Given the description of an element on the screen output the (x, y) to click on. 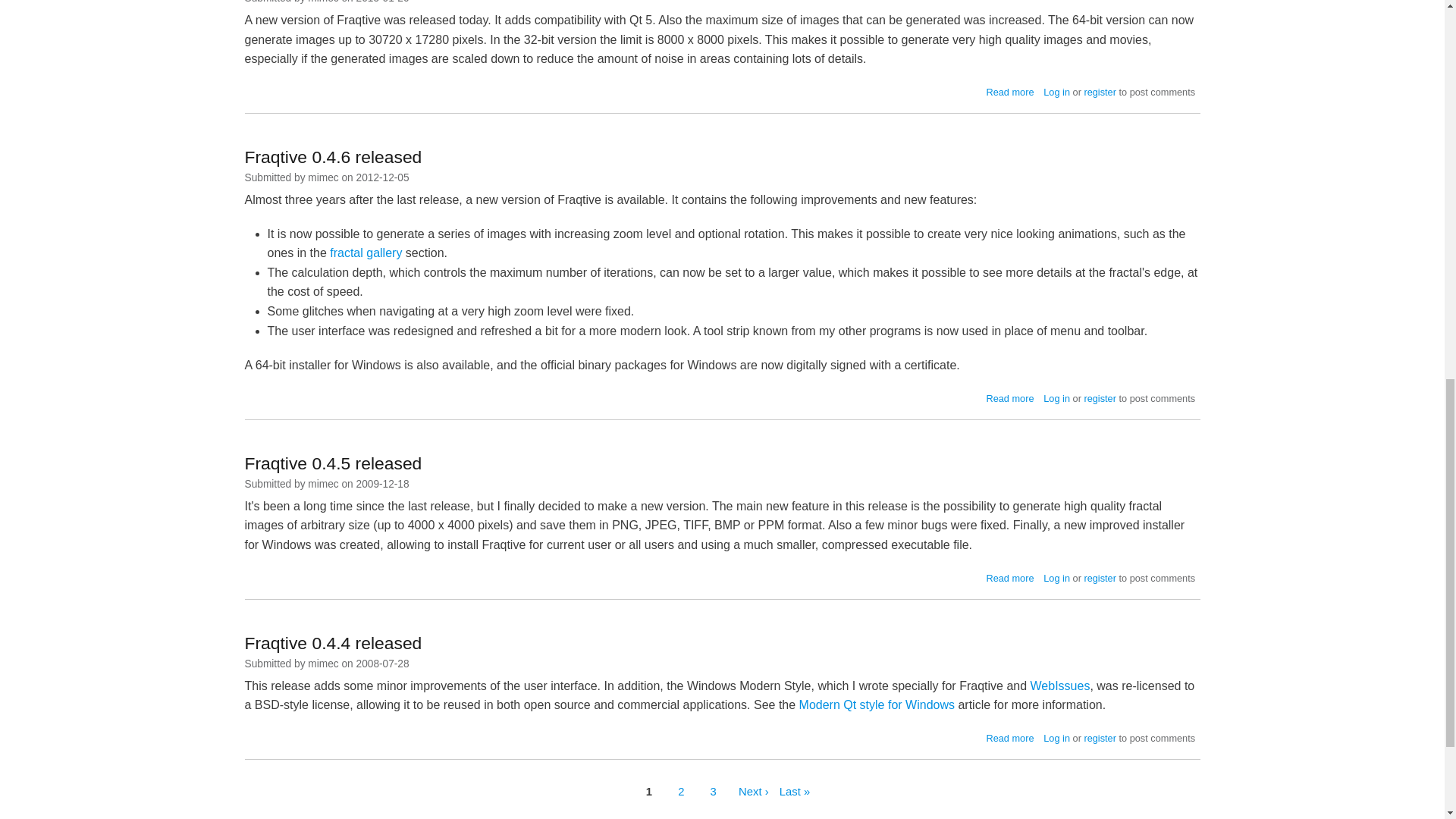
Log in (1056, 398)
Modern Qt style for Windows (877, 704)
Fraqtive 0.4.6 released (333, 157)
register (1099, 91)
register (1099, 398)
Log in (1009, 398)
Log in (1056, 91)
register (1056, 577)
register (1099, 577)
Fraqtive 0.4.4 released (1099, 737)
fractal gallery (1009, 737)
Fraqtive 0.4.7 released (365, 252)
Log in (1009, 91)
